Given the description of an element on the screen output the (x, y) to click on. 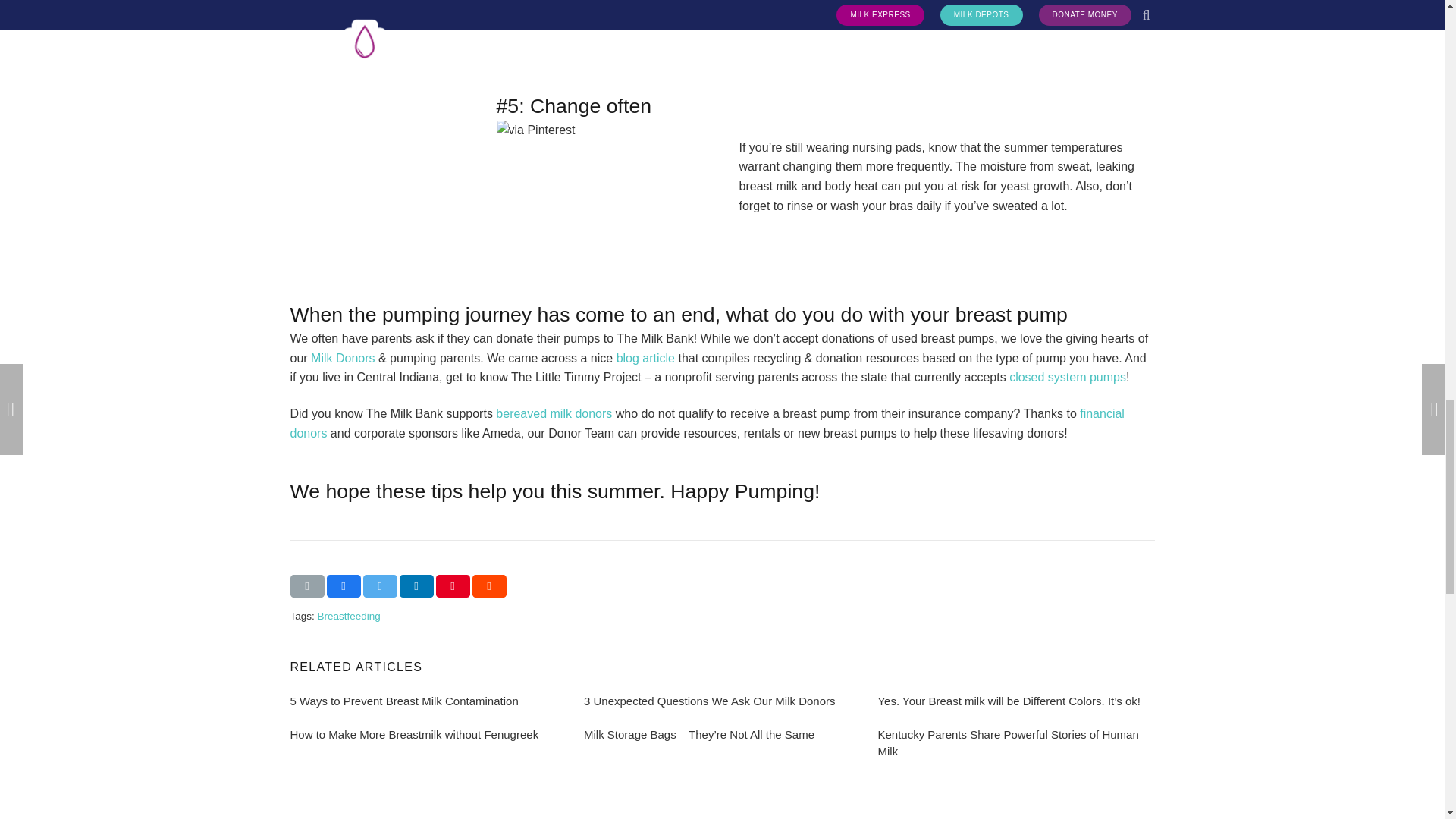
3 Unexpected Questions We Ask Our Milk Donors (709, 700)
closed system pumps (1067, 377)
Milk Donors (342, 358)
bereaved milk donors (553, 413)
5 Ways to Prevent Breast Milk Contamination (403, 700)
Share this (415, 585)
Pin this (451, 585)
Share this (342, 585)
Share this (488, 585)
Breastfeeding (348, 615)
